Given the description of an element on the screen output the (x, y) to click on. 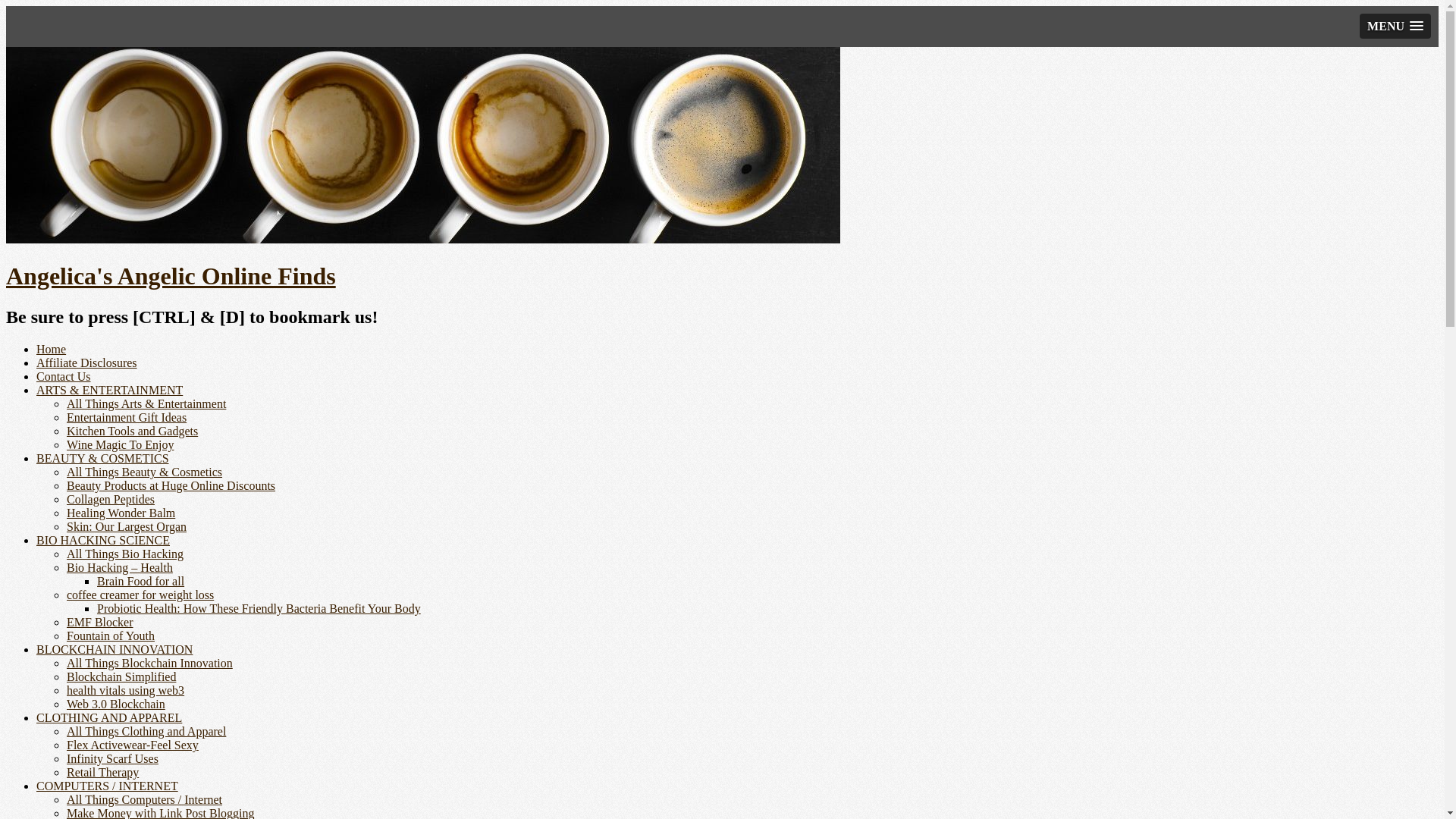
Contact Us Element type: text (63, 376)
All Things Bio Hacking Element type: text (124, 553)
All Things Blockchain Innovation Element type: text (149, 662)
Skin: Our Largest Organ Element type: text (126, 526)
BIO HACKING SCIENCE Element type: text (102, 539)
Beauty Products at Huge Online Discounts Element type: text (170, 485)
BLOCKCHAIN INNOVATION Element type: text (114, 649)
Entertainment Gift Ideas Element type: text (126, 417)
Brain Food for all Element type: text (140, 580)
Affiliate Disclosures Element type: text (86, 362)
All Things Arts & Entertainment Element type: text (145, 403)
Healing Wonder Balm Element type: text (120, 512)
COMPUTERS / INTERNET Element type: text (107, 785)
Wine Magic To Enjoy Element type: text (119, 444)
Blockchain Simplified Element type: text (120, 676)
Skip to content Element type: text (5, 46)
coffee creamer for weight loss Element type: text (139, 594)
Web 3.0 Blockchain Element type: text (115, 703)
All Things Beauty & Cosmetics Element type: text (144, 471)
ARTS & ENTERTAINMENT Element type: text (109, 389)
MENU Element type: text (1394, 25)
CLOTHING AND APPAREL Element type: text (109, 717)
Retail Therapy Element type: text (102, 771)
Infinity Scarf Uses Element type: text (112, 758)
Collagen Peptides Element type: text (110, 498)
All Things Computers / Internet Element type: text (144, 799)
health vitals using web3 Element type: text (125, 690)
Fountain of Youth Element type: text (110, 635)
Angelica's Angelic Online Finds Element type: text (170, 275)
Home Element type: text (50, 348)
Flex Activewear-Feel Sexy Element type: text (132, 744)
EMF Blocker Element type: text (99, 621)
Kitchen Tools and Gadgets Element type: text (131, 430)
BEAUTY & COSMETICS Element type: text (102, 457)
All Things Clothing and Apparel Element type: text (145, 730)
